Given the description of an element on the screen output the (x, y) to click on. 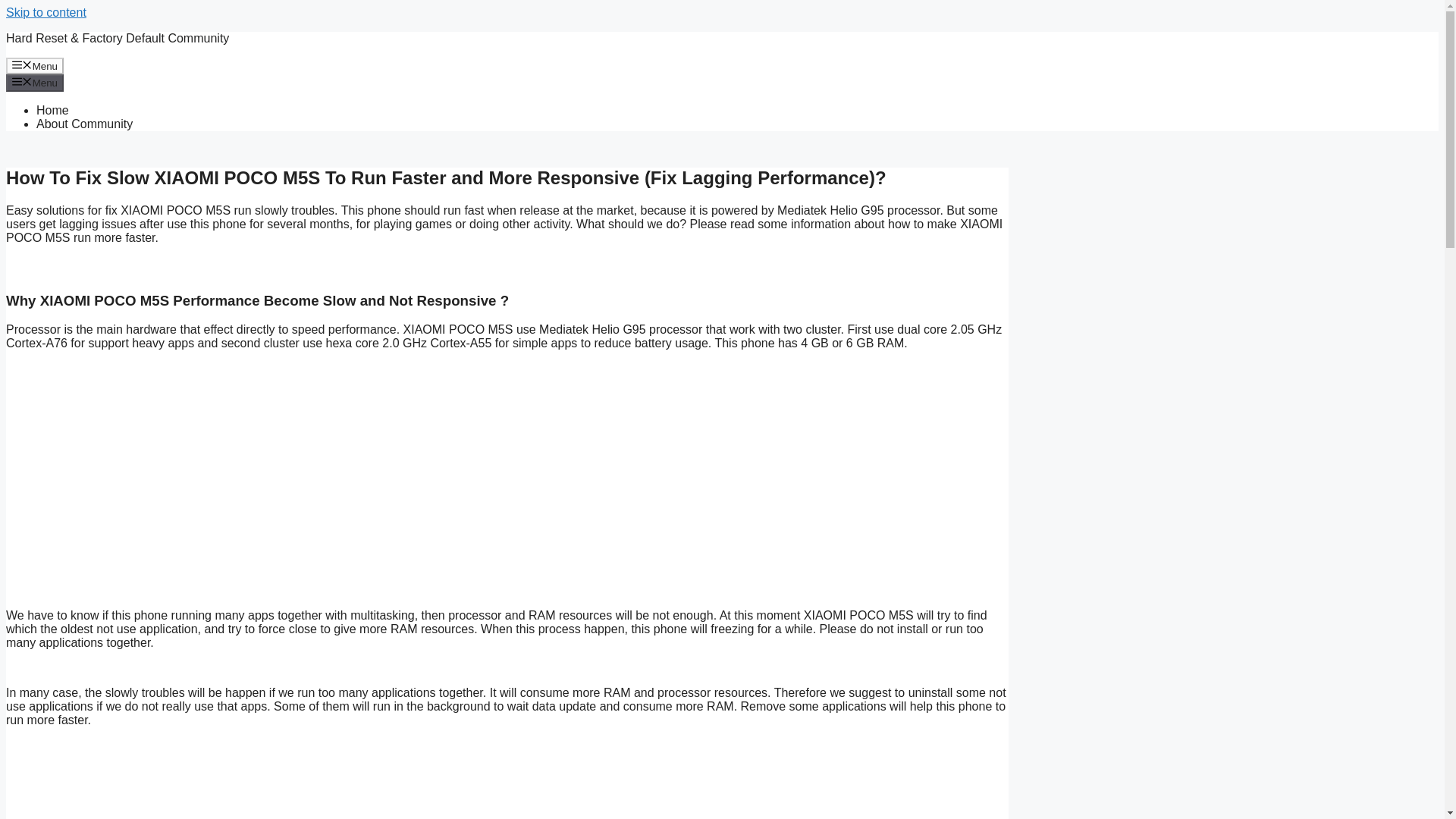
Skip to content (45, 11)
Menu (34, 65)
Home (52, 110)
Skip to content (45, 11)
About Community (84, 123)
Menu (34, 82)
